Given the description of an element on the screen output the (x, y) to click on. 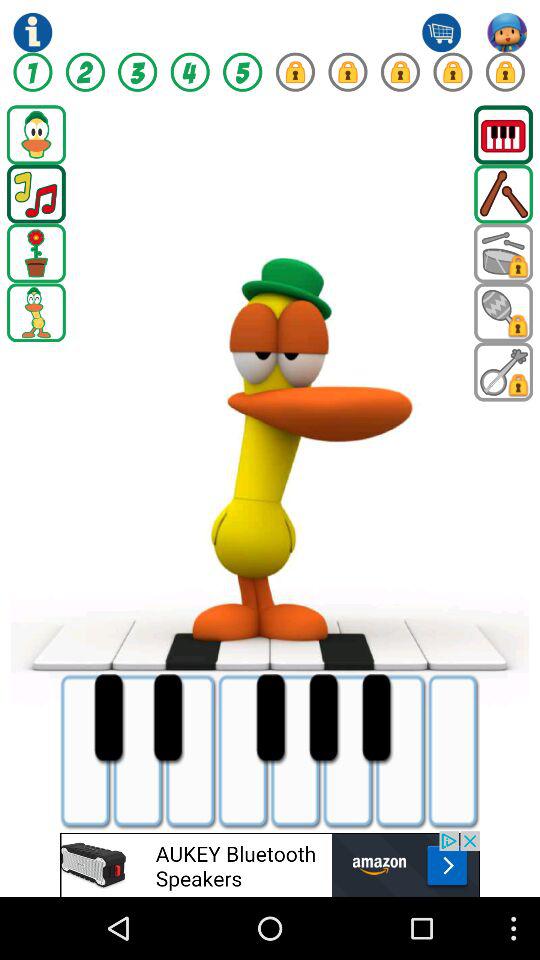
select option (503, 312)
